Given the description of an element on the screen output the (x, y) to click on. 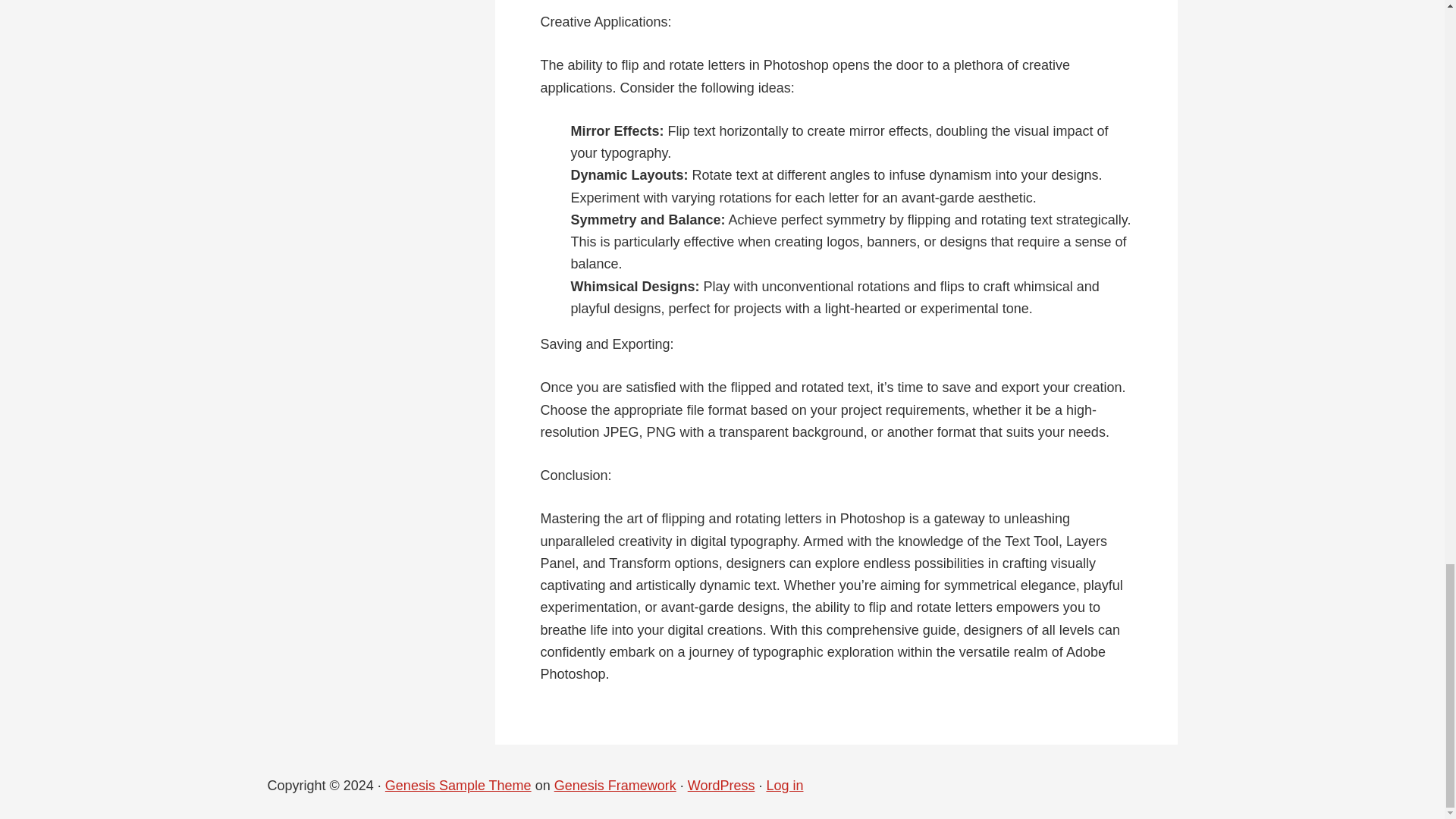
Genesis Framework (615, 785)
Genesis Sample Theme (458, 785)
WordPress (721, 785)
Log in (784, 785)
